Given the description of an element on the screen output the (x, y) to click on. 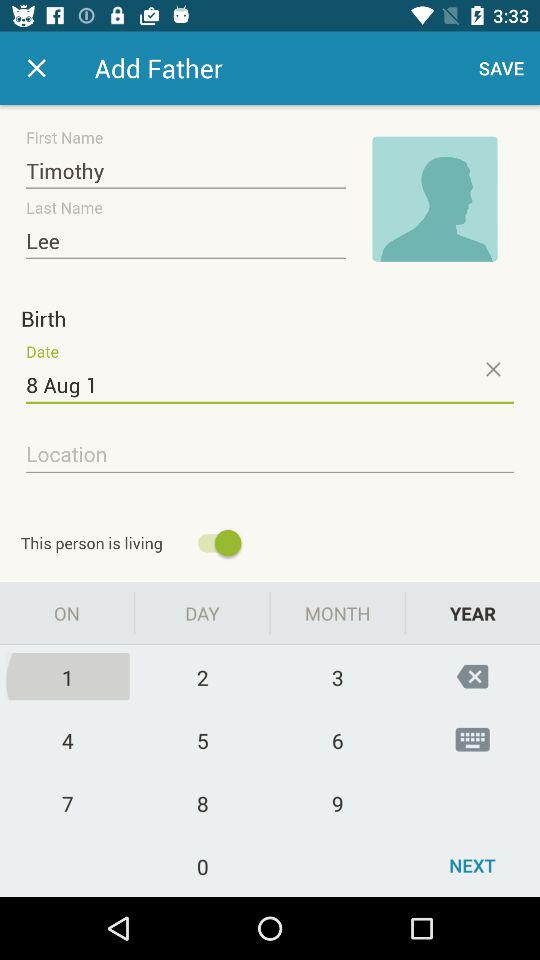
exit button (36, 68)
